Given the description of an element on the screen output the (x, y) to click on. 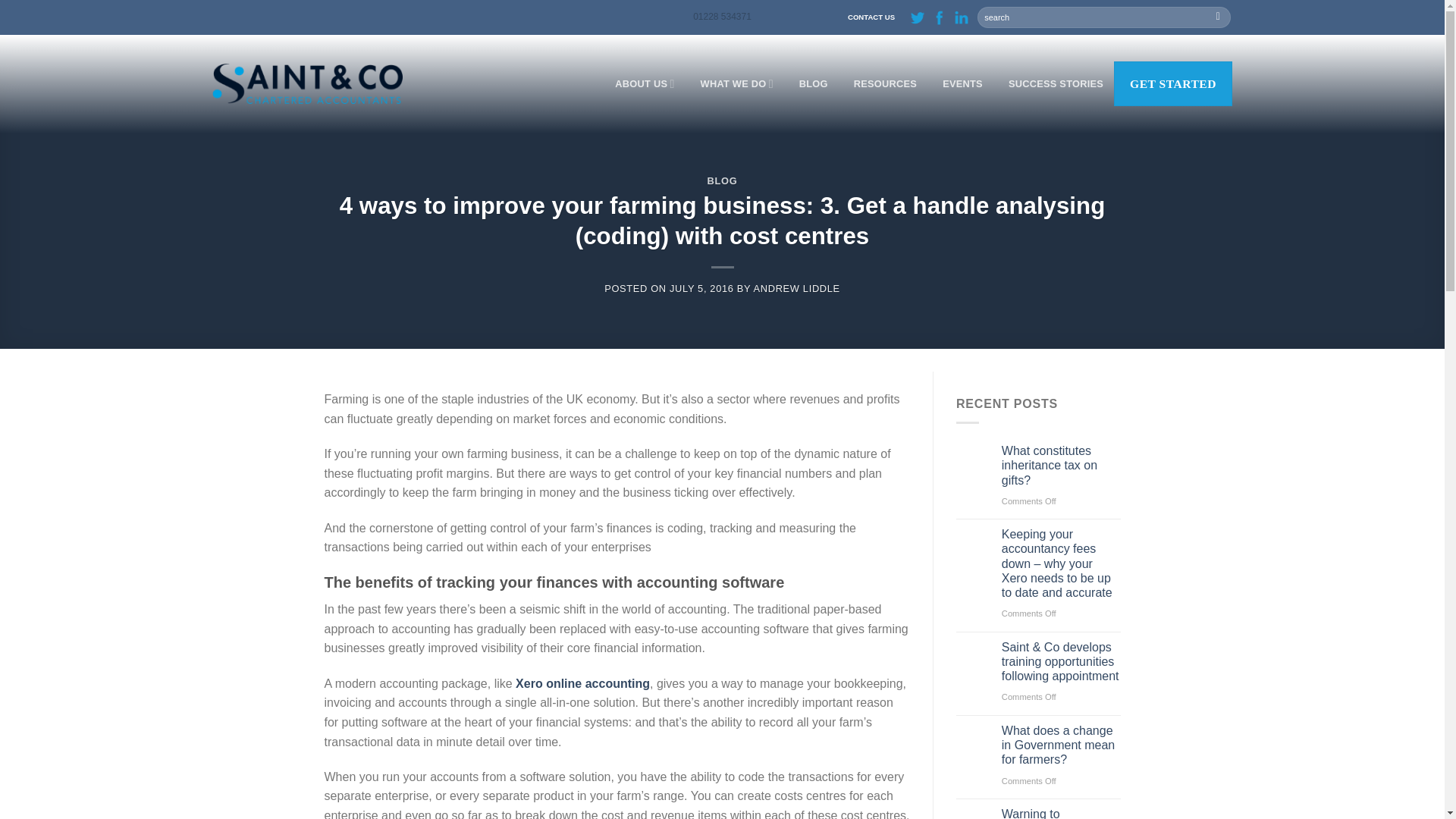
ABOUT US (644, 83)
WHAT WE DO (736, 83)
Saint (307, 83)
What does a change in Government mean for farmers? (1061, 745)
What constitutes inheritance tax on gifts? (1061, 465)
CONTACT US (871, 17)
01228 534371 (722, 16)
